Given the description of an element on the screen output the (x, y) to click on. 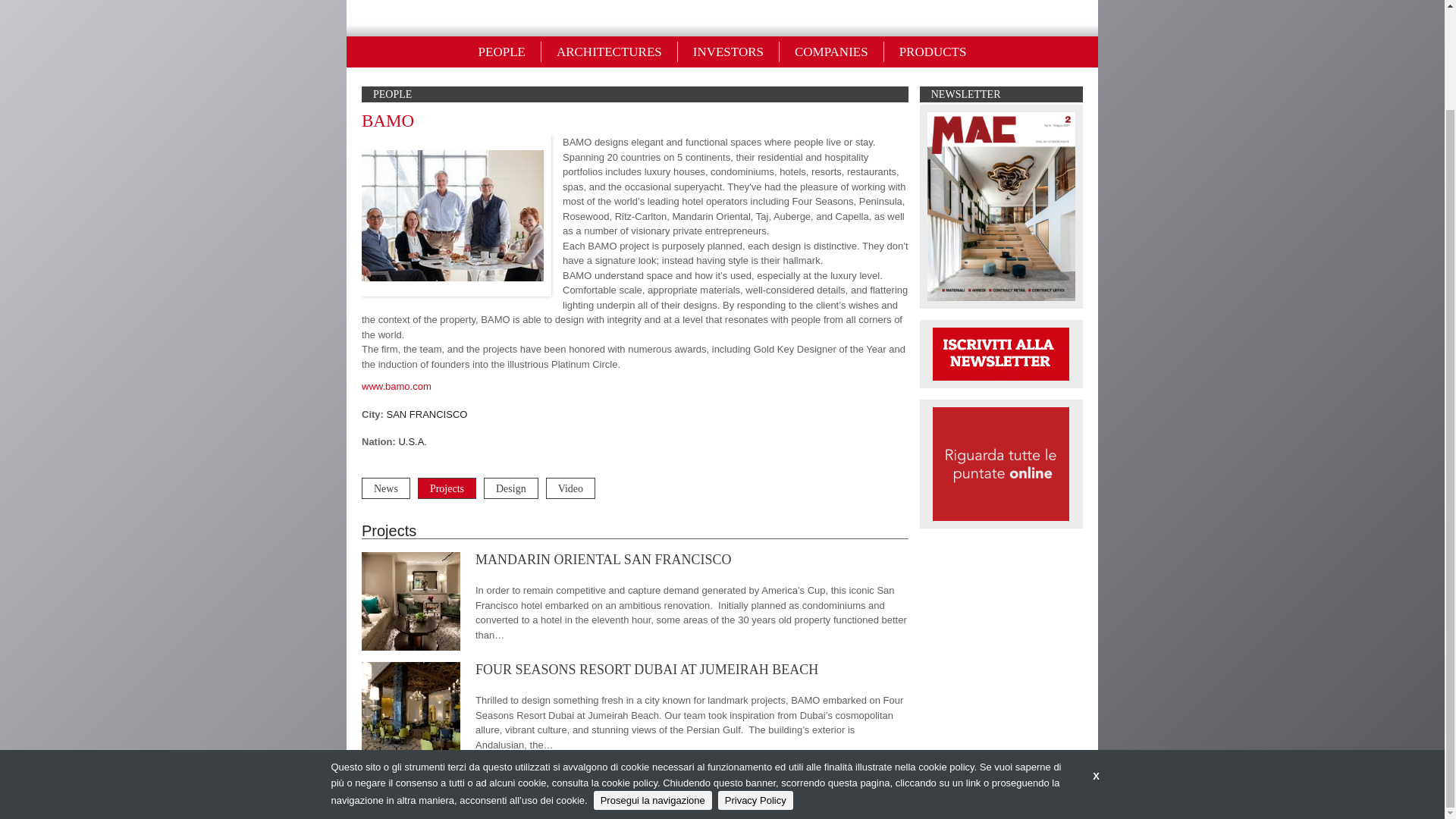
MANDARIN ORIENTAL SAN FRANCISCO (603, 559)
Privacy Policy (755, 684)
Video (570, 487)
INVESTORS (728, 51)
www.bamo.com (395, 386)
News (385, 487)
PEOPLE (502, 51)
FOUR SEASONS RESORT DUBAI AT JUMEIRAH BEACH (647, 669)
ARCHITECTURES (609, 51)
Prosegui la navigazione (652, 684)
Design (510, 487)
Privacy policy (915, 797)
SUITE LIVE TUTTE LE PUNTATE (1000, 462)
COMPANIES (830, 51)
Projects (446, 487)
